Given the description of an element on the screen output the (x, y) to click on. 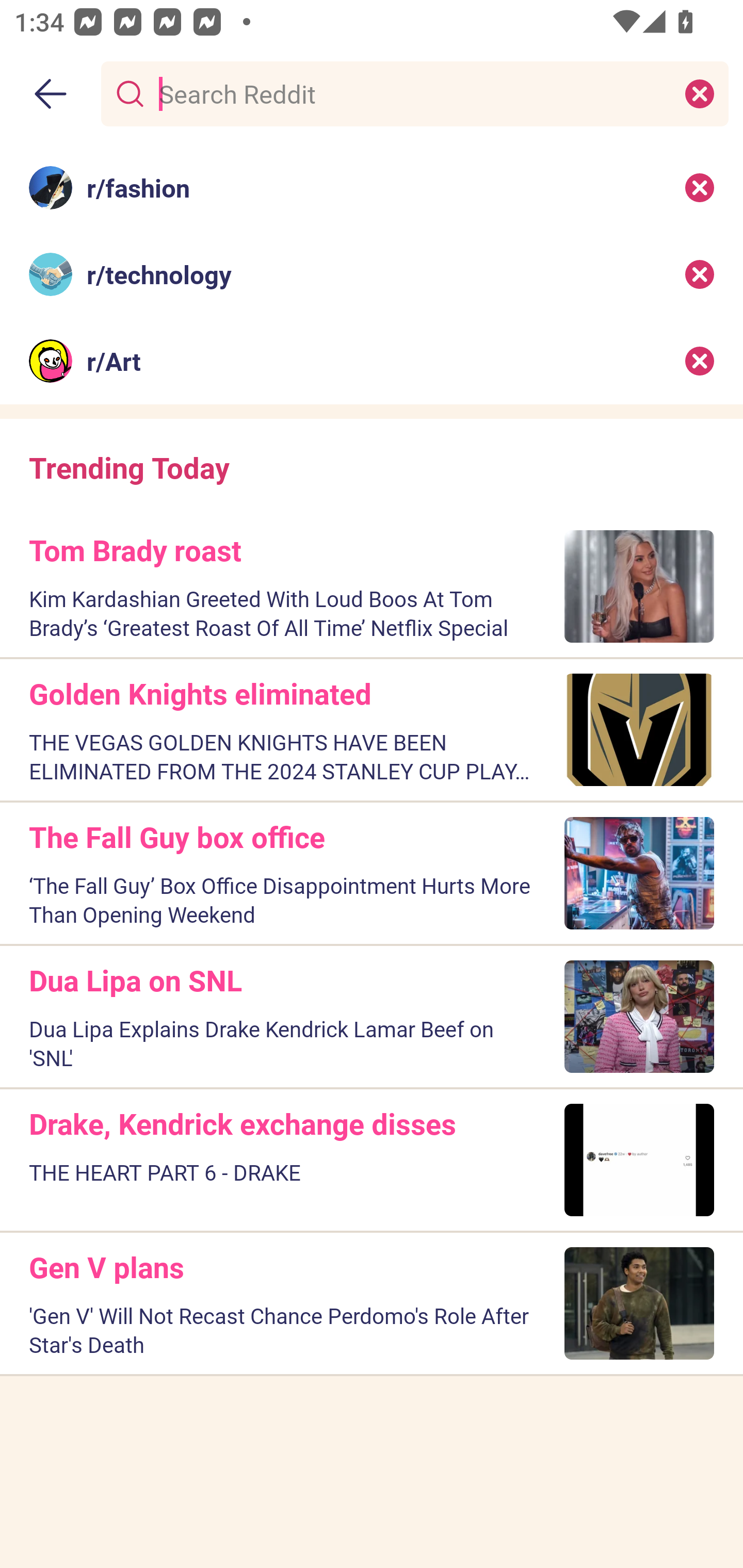
Back (50, 93)
Search Reddit (410, 93)
Clear search (699, 93)
r/fashion Recent search: r/fashion Remove (371, 187)
Remove (699, 187)
r/technology Recent search: r/technology Remove (371, 274)
Remove (699, 274)
r/Art Recent search: r/Art Remove (371, 361)
Remove (699, 361)
